Given the description of an element on the screen output the (x, y) to click on. 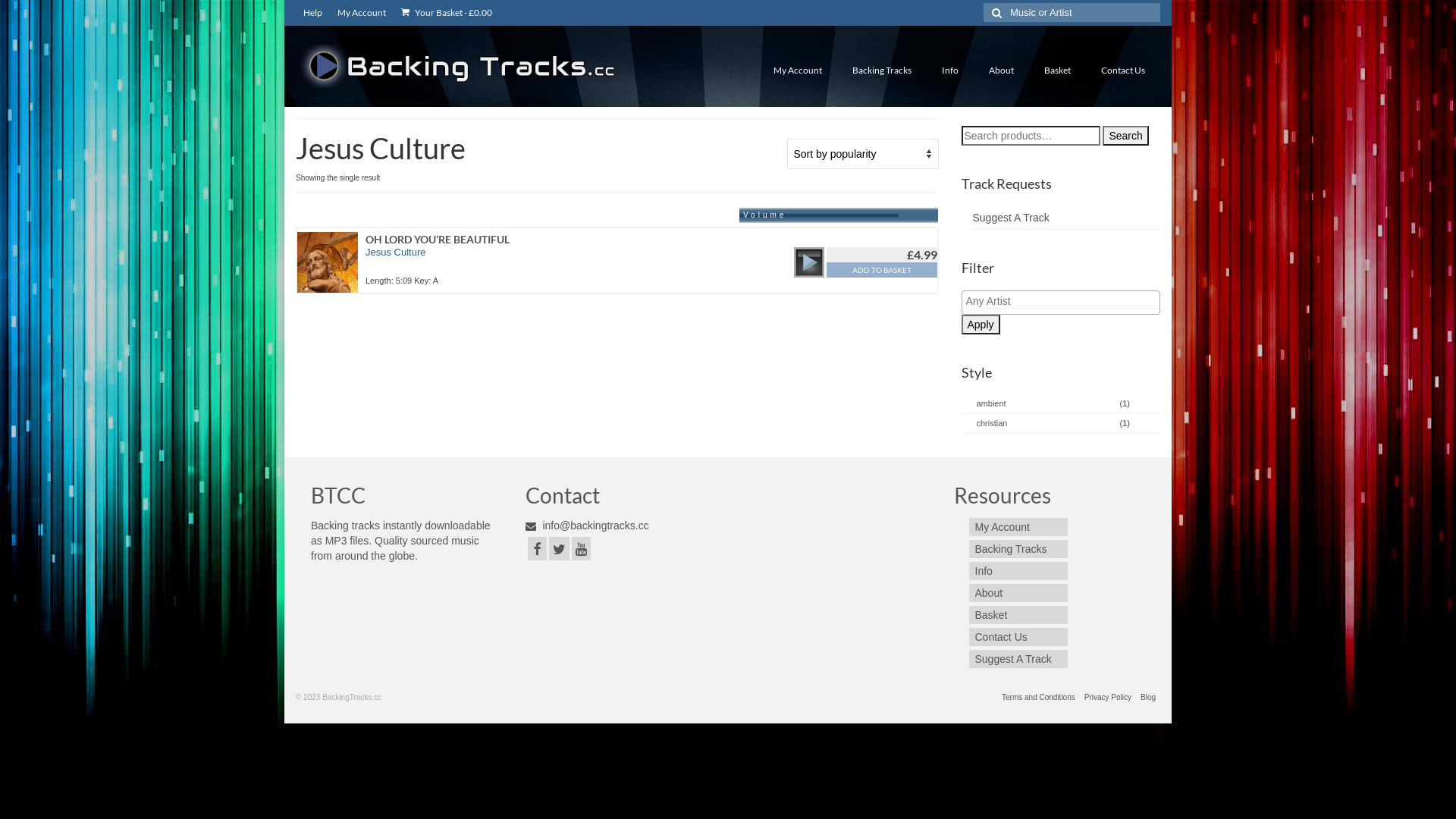
Basket Element type: text (1018, 614)
Backing Tracks Element type: text (881, 70)
About Element type: text (1018, 592)
Contact Us Element type: text (1018, 636)
Info Element type: text (949, 70)
christian Element type: text (990, 422)
About Element type: text (1001, 70)
info@backingtracks.cc Element type: text (586, 525)
Help Element type: text (312, 12)
Basket Element type: text (1057, 70)
Info Element type: text (1018, 570)
Apply Element type: text (980, 324)
ADD TO BASKET Element type: text (881, 269)
My Account Element type: text (361, 12)
My Account Element type: text (797, 70)
My Account Element type: text (1018, 526)
Contact Us Element type: text (1122, 70)
Backing Tracks Element type: text (1018, 548)
Blog Element type: text (1147, 697)
Suggest A Track Element type: text (1010, 217)
Privacy Policy Element type: text (1107, 697)
Jesus Culture Element type: text (395, 251)
Terms and Conditions Element type: text (1038, 697)
Search Element type: text (1125, 135)
ambient Element type: text (989, 403)
Suggest A Track Element type: text (1018, 658)
